Given the description of an element on the screen output the (x, y) to click on. 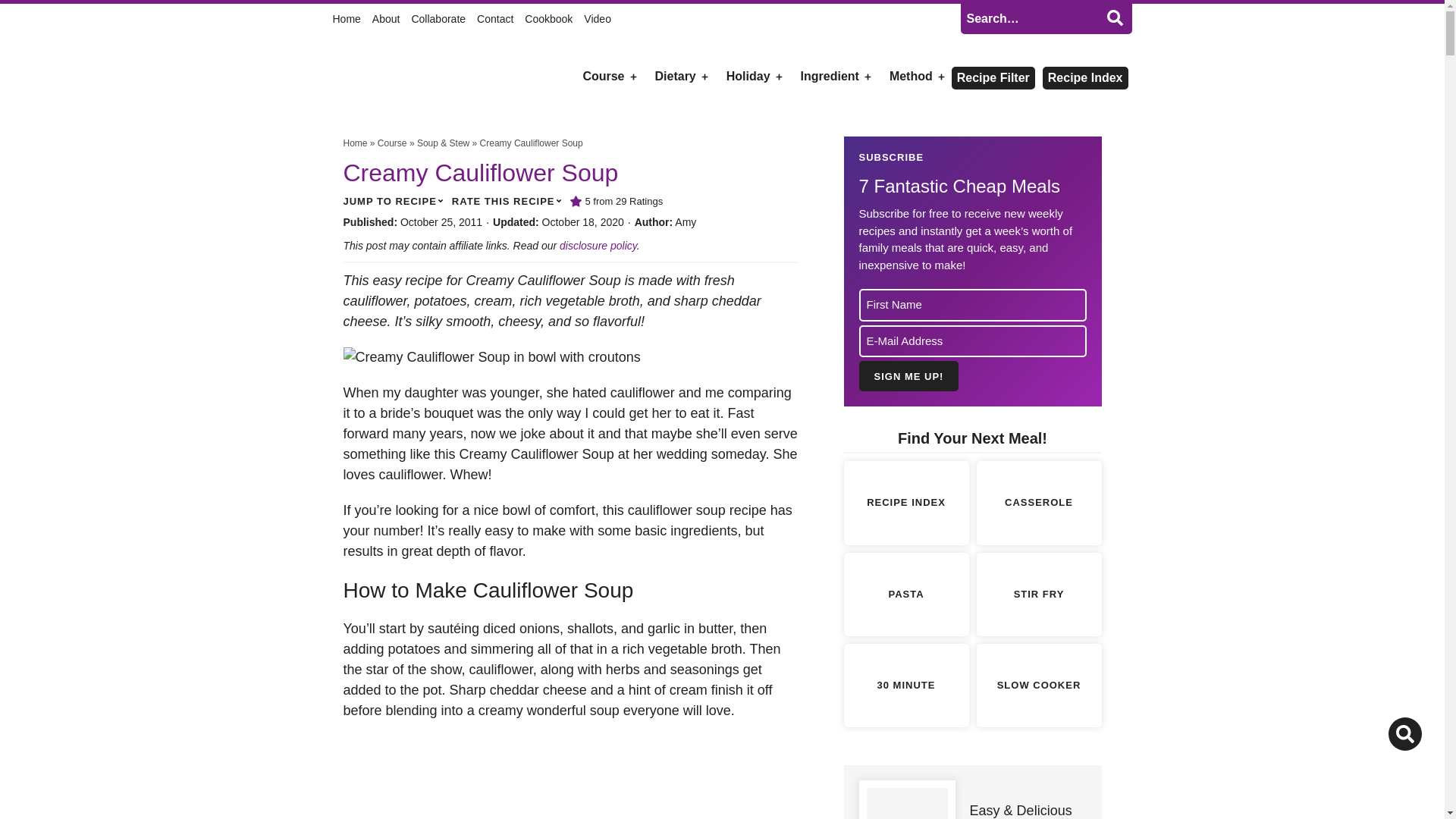
Belly Full (405, 77)
Cookbook (548, 18)
Collaborate (437, 18)
Home (339, 18)
Course (602, 76)
About (386, 18)
Holiday (747, 76)
Search for (1045, 19)
Dietary (674, 76)
Contact (495, 18)
SEARCH SUBMIT (1114, 17)
Video (597, 18)
Sign Me Up! (908, 376)
